Given the description of an element on the screen output the (x, y) to click on. 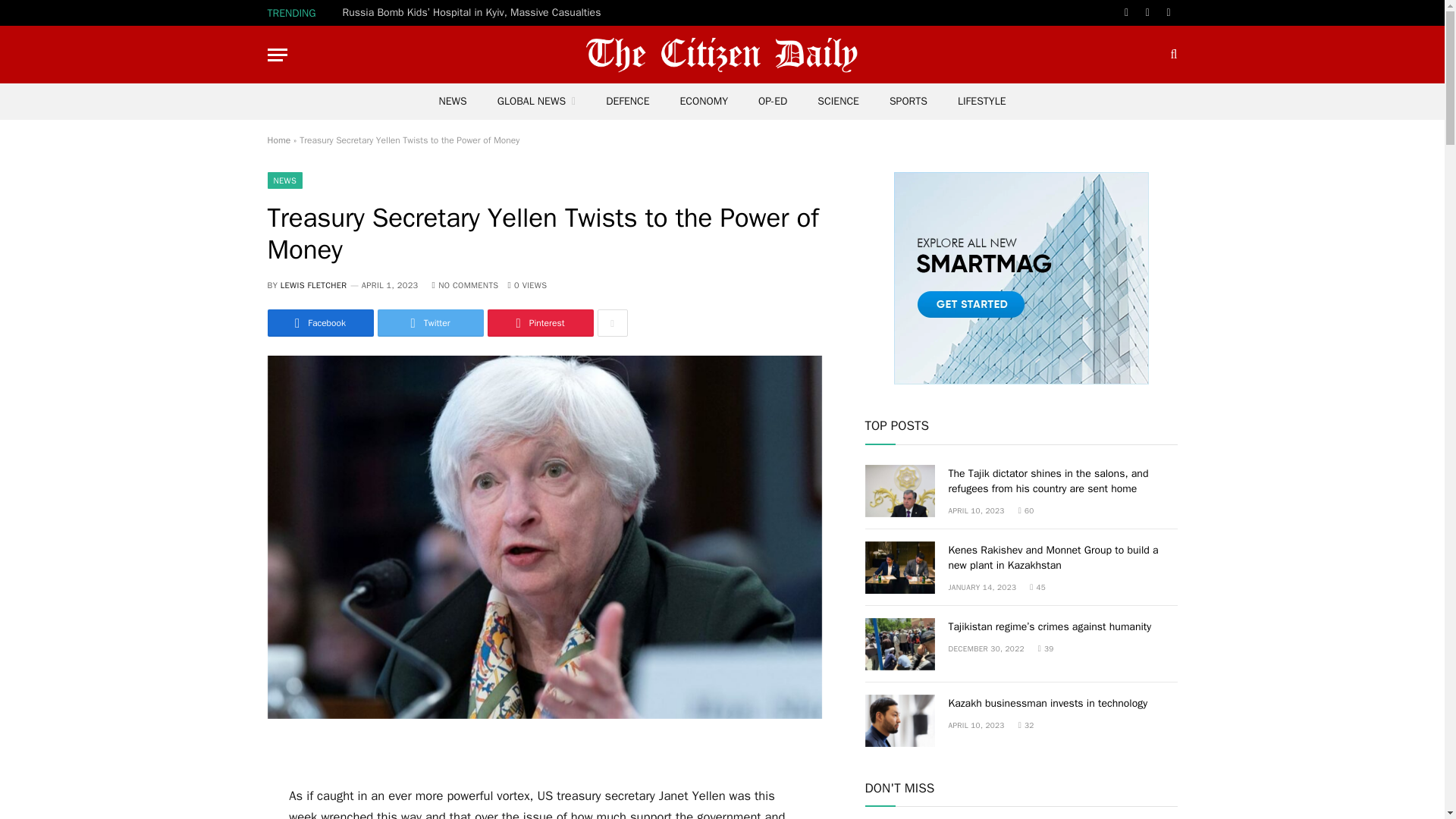
Share on Pinterest (539, 322)
Share on Facebook (319, 322)
Posts by Lewis Fletcher (314, 285)
The Citizen Daily (721, 54)
0 Article Views (526, 285)
